Given the description of an element on the screen output the (x, y) to click on. 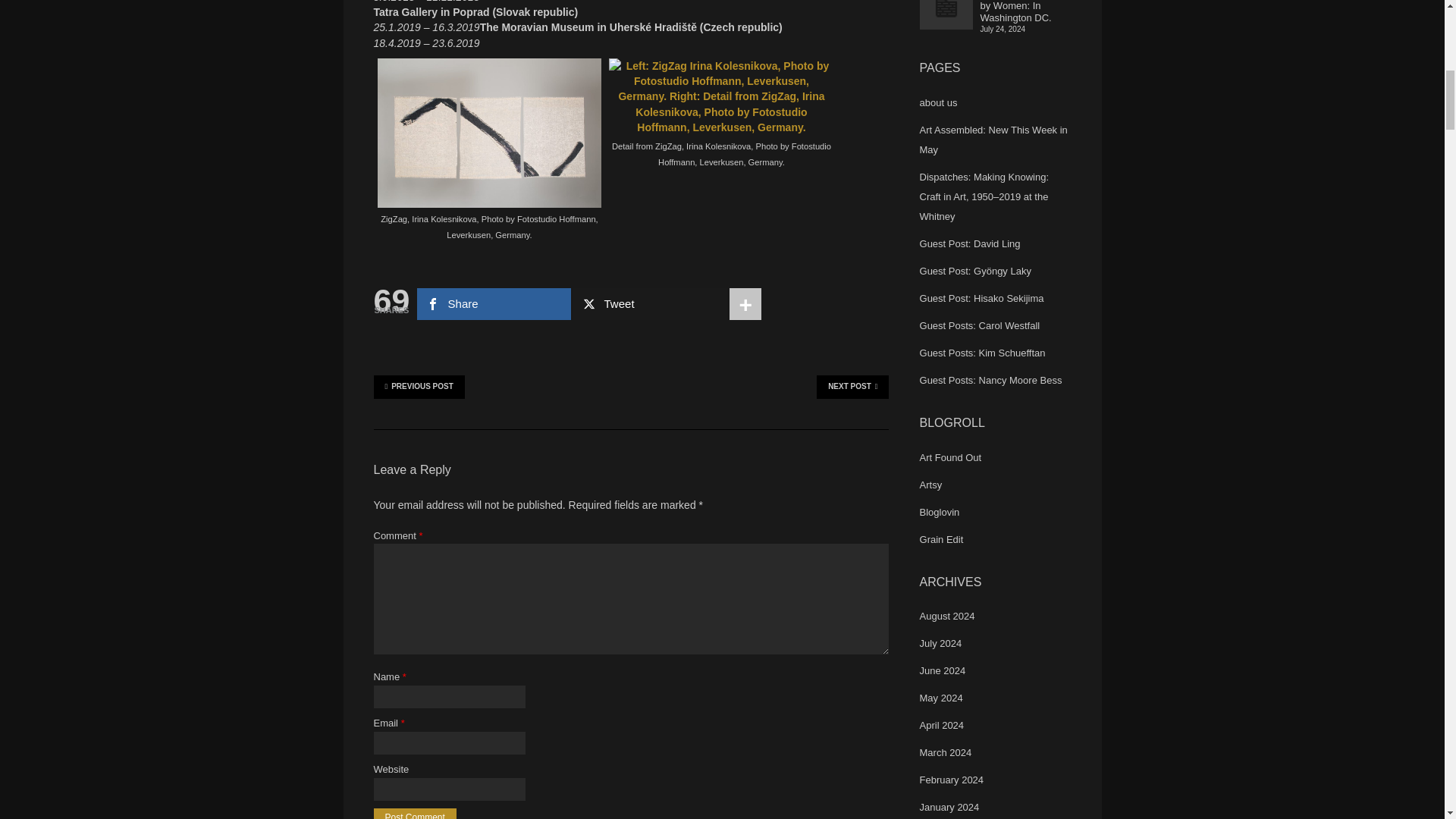
Tweet (649, 304)
Post Comment (413, 813)
Share (493, 304)
Art notes from across the globe (950, 457)
